Given the description of an element on the screen output the (x, y) to click on. 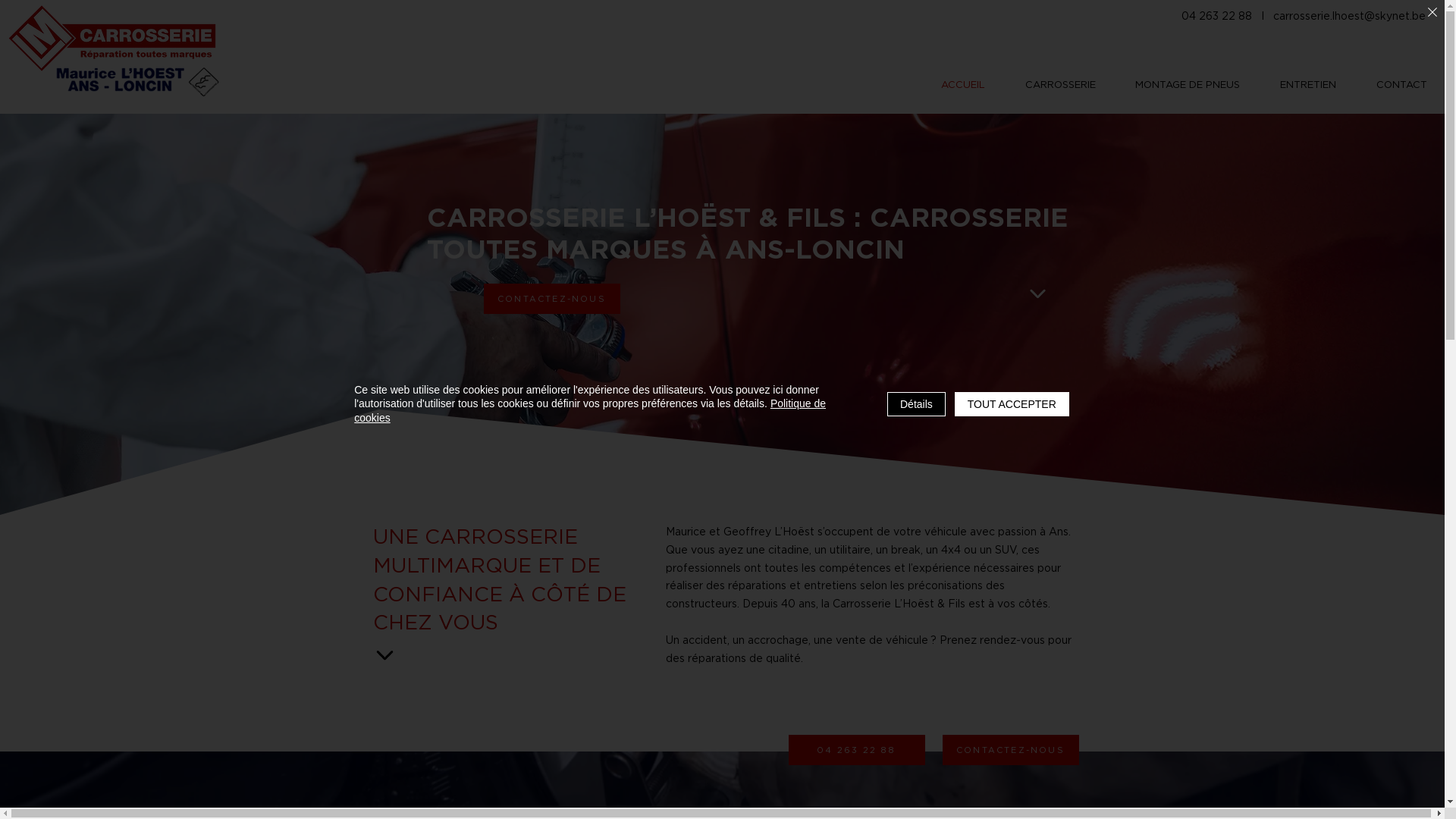
 04 263 22 88 Element type: text (1215, 15)
04 263 22 88 Element type: text (856, 749)
ENTRETIEN Element type: text (1308, 84)
Politique de cookies Element type: text (589, 410)
CONTACTEZ-NOUS Element type: text (551, 298)
CONTACT Element type: text (1400, 84)
CONTACTEZ-NOUS Element type: text (1009, 749)
MONTAGE DE PNEUS Element type: text (1187, 84)
carrosserie.lhoest@skynet.be Element type: text (1349, 15)
ACCUEIL Element type: text (963, 84)
TOUT ACCEPTER Element type: text (1011, 403)
CARROSSERIE Element type: text (1060, 84)
